Given the description of an element on the screen output the (x, y) to click on. 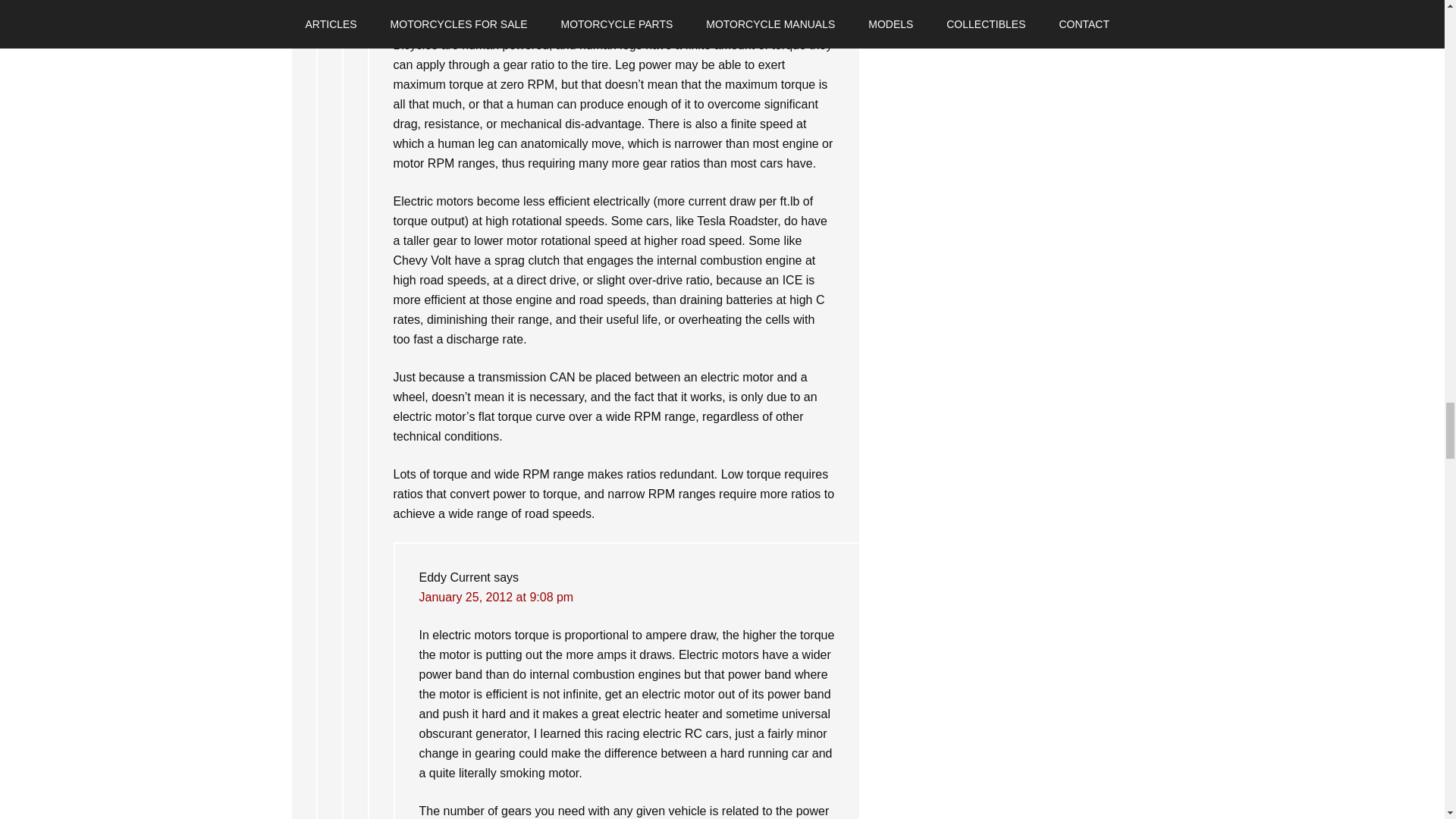
January 25, 2012 at 9:08 pm (496, 596)
